Given the description of an element on the screen output the (x, y) to click on. 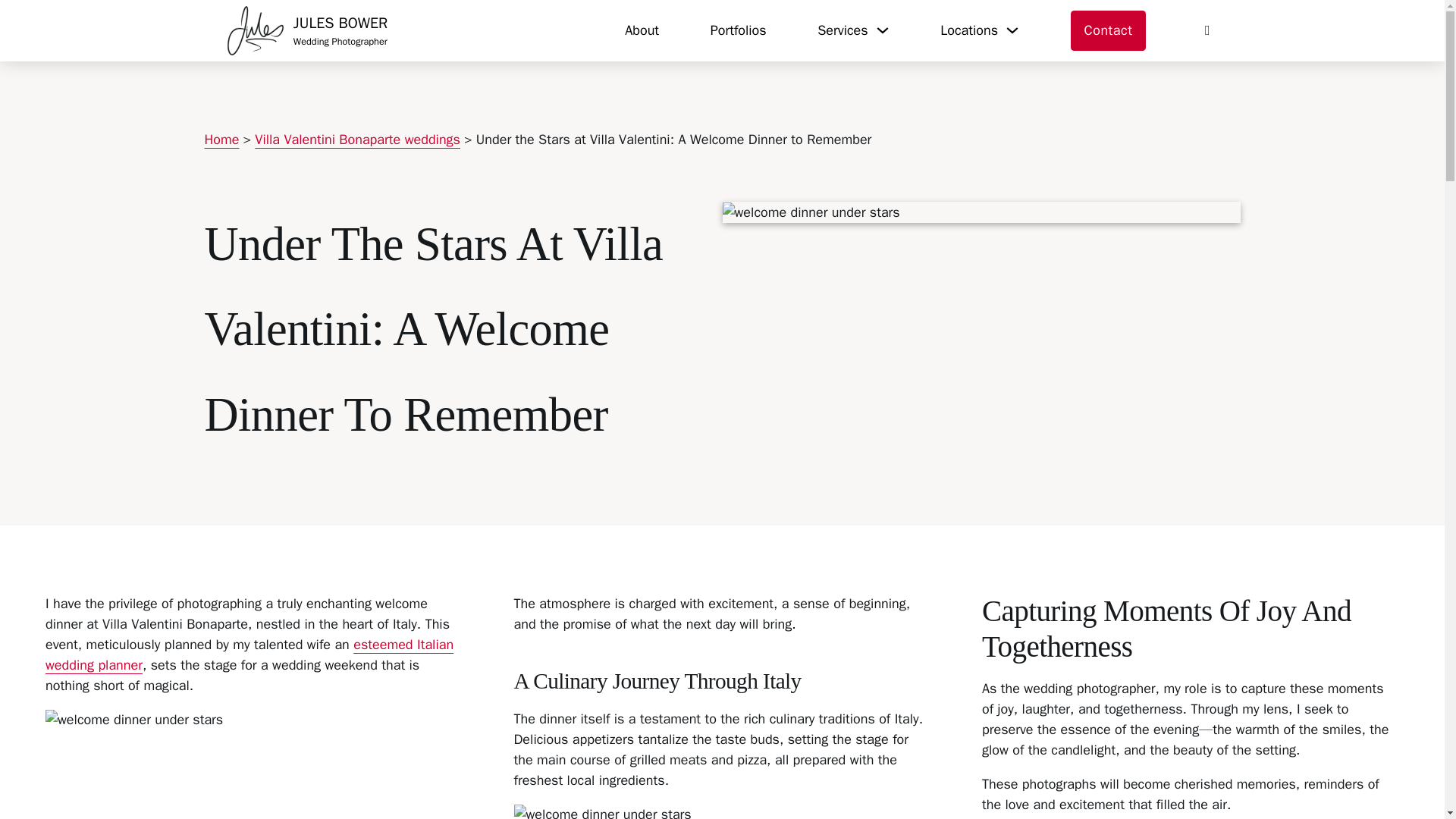
Villa Valentini Bonaparte weddings (357, 139)
About (307, 30)
Portfolios (641, 30)
esteemed Italian wedding planner (738, 30)
Home (248, 654)
Contact (222, 139)
